Given the description of an element on the screen output the (x, y) to click on. 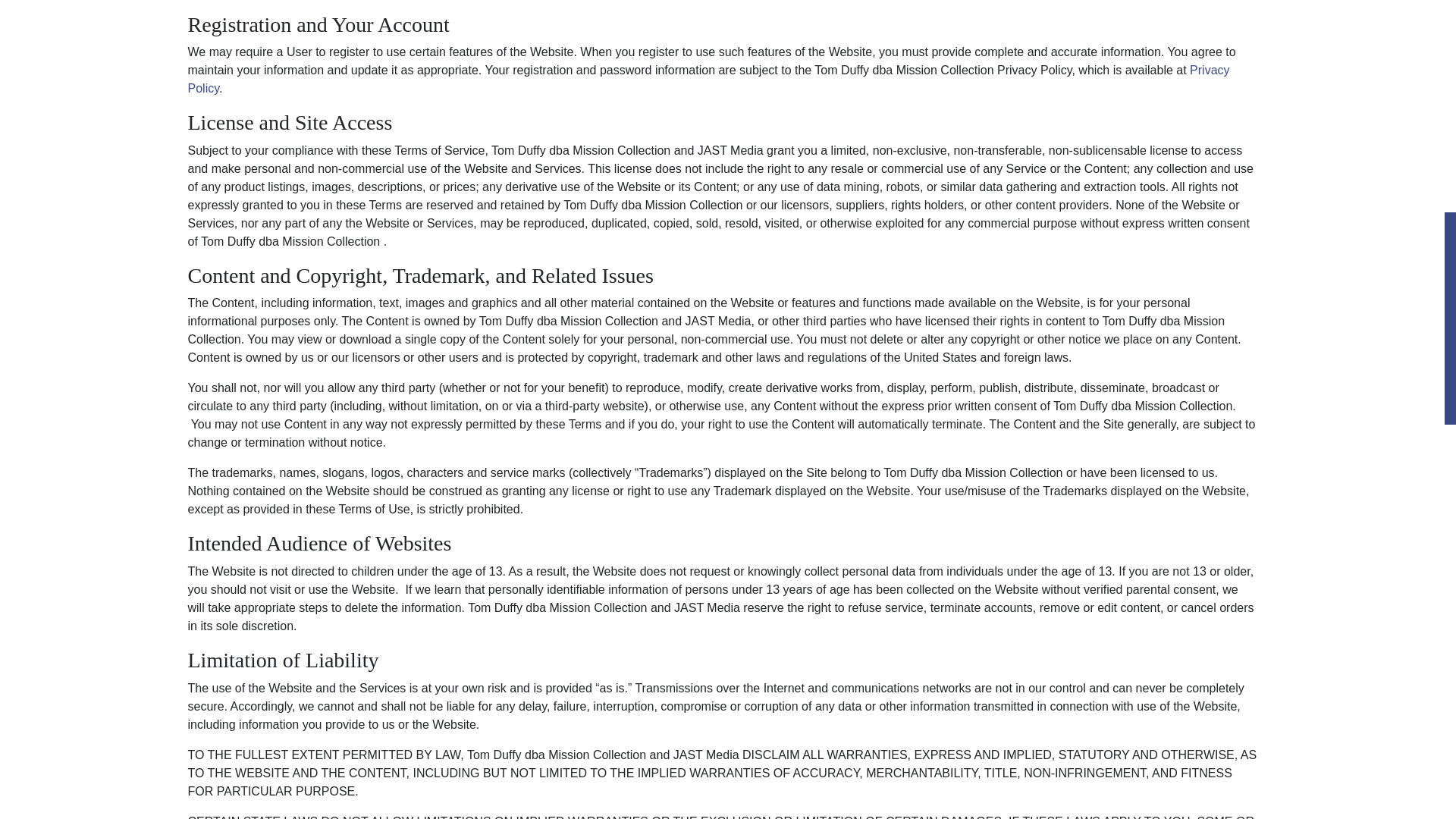
Privacy Policy (708, 79)
